Given the description of an element on the screen output the (x, y) to click on. 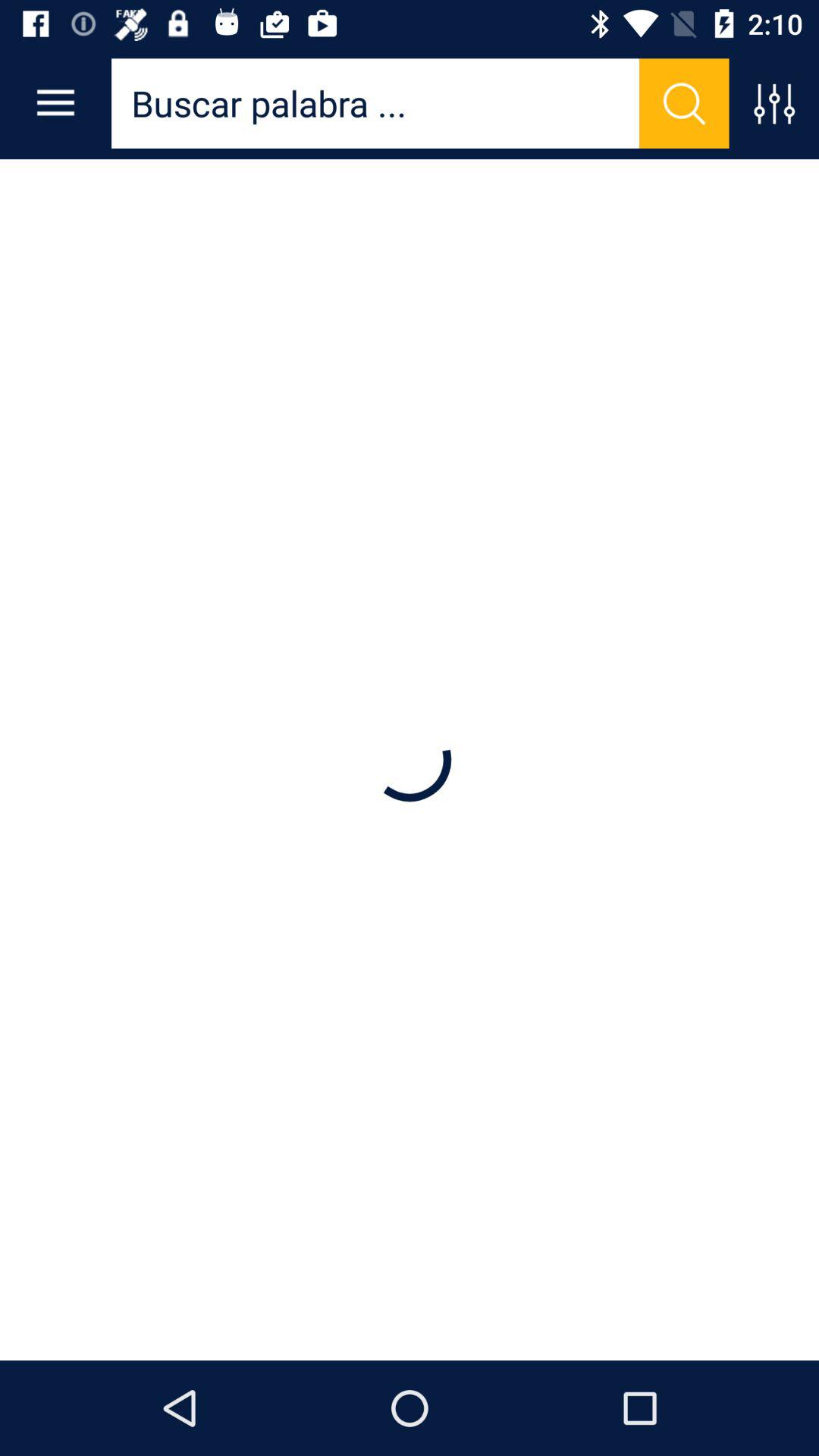
change the filters (774, 103)
